Given the description of an element on the screen output the (x, y) to click on. 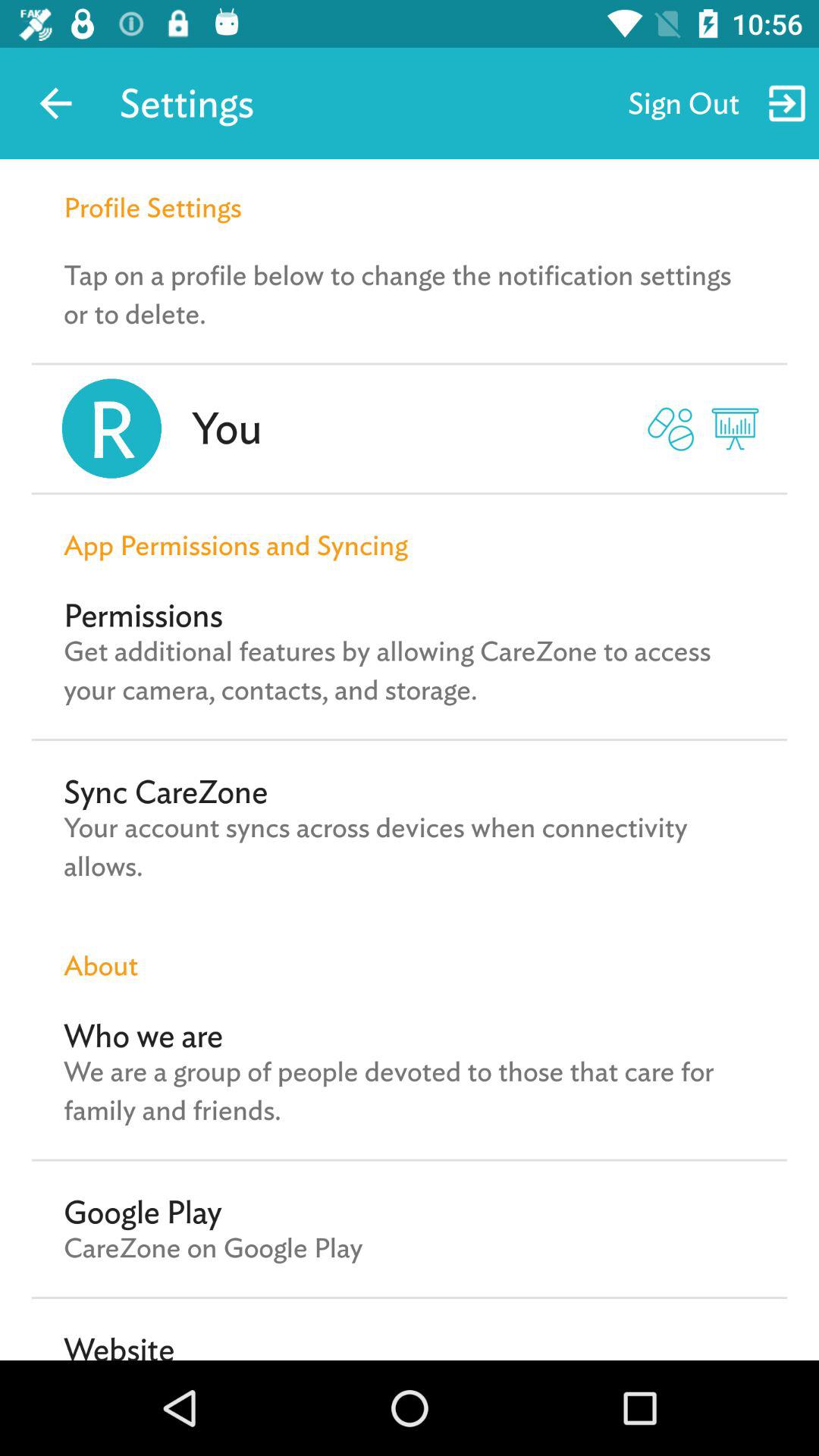
click app permissions and icon (409, 529)
